Given the description of an element on the screen output the (x, y) to click on. 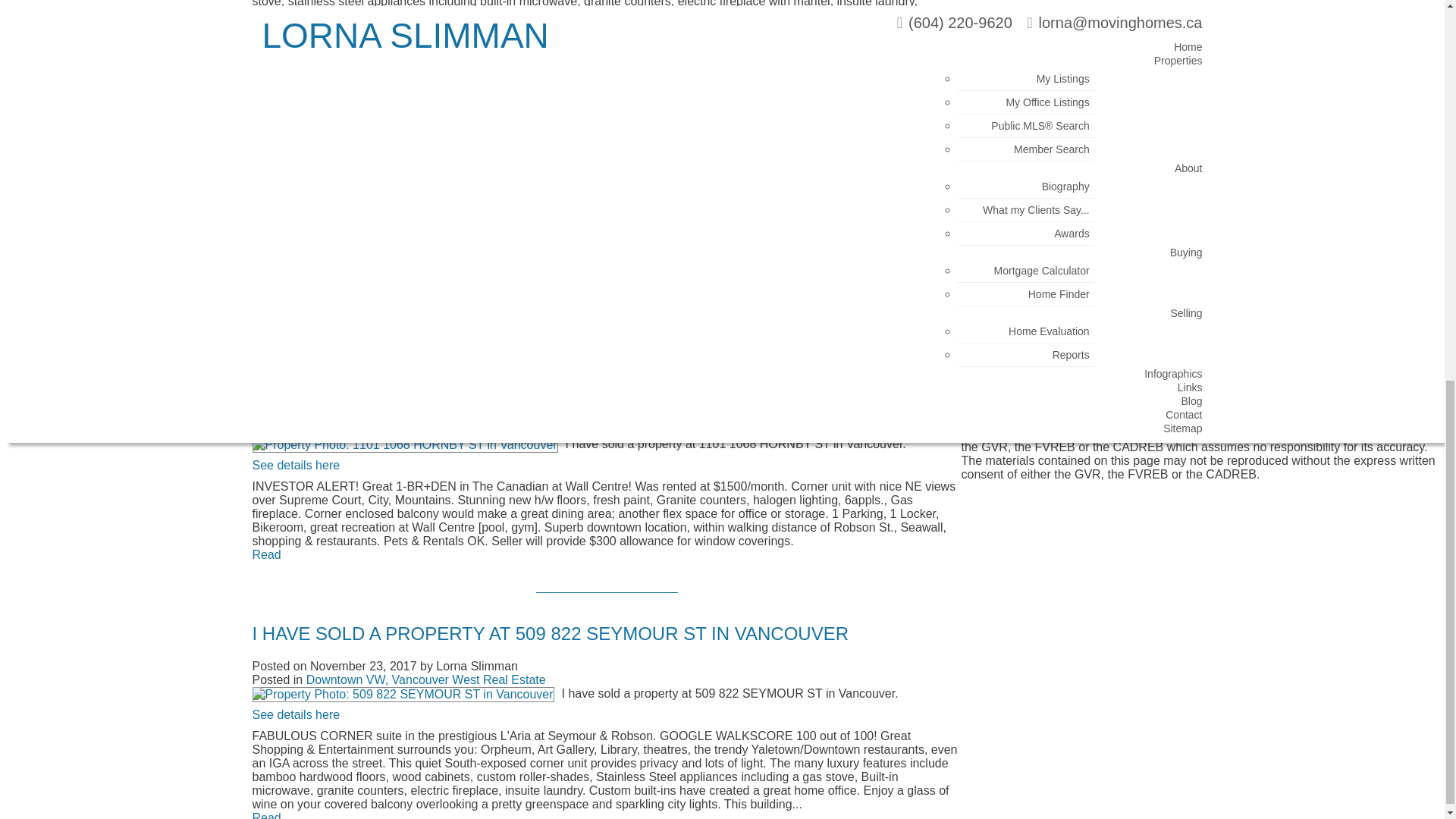
Read (266, 42)
I HAVE SOLD A PROPERTY AT 408 1333 HORNBY ST IN VANCOUVER (547, 120)
Downtown VW, Vancouver West Real Estate (425, 166)
